Given the description of an element on the screen output the (x, y) to click on. 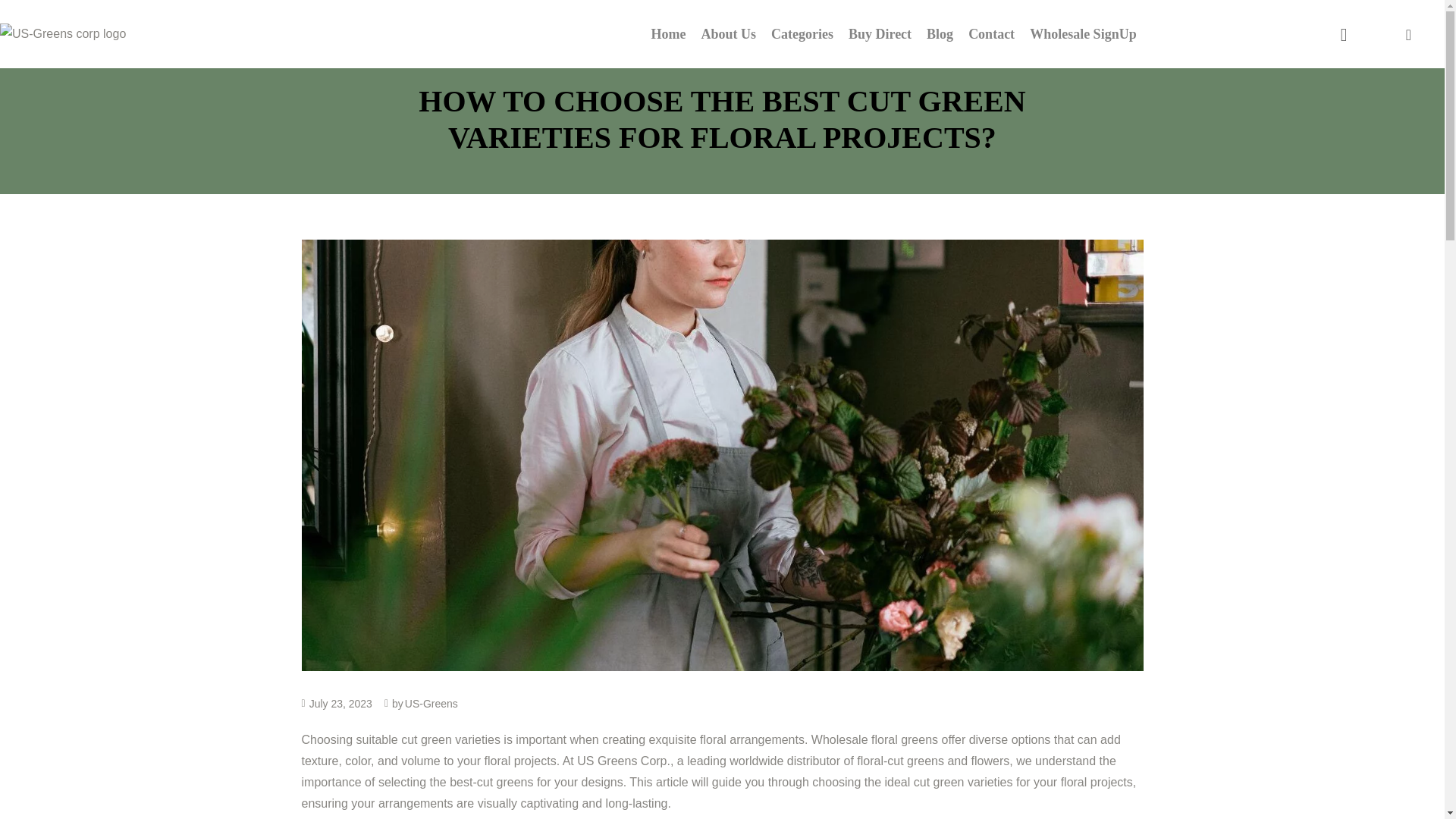
Categories (801, 33)
Wholesale SignUp (1083, 33)
Contact (991, 33)
Home (667, 33)
Buy Direct (879, 33)
About Us (727, 33)
